Given the description of an element on the screen output the (x, y) to click on. 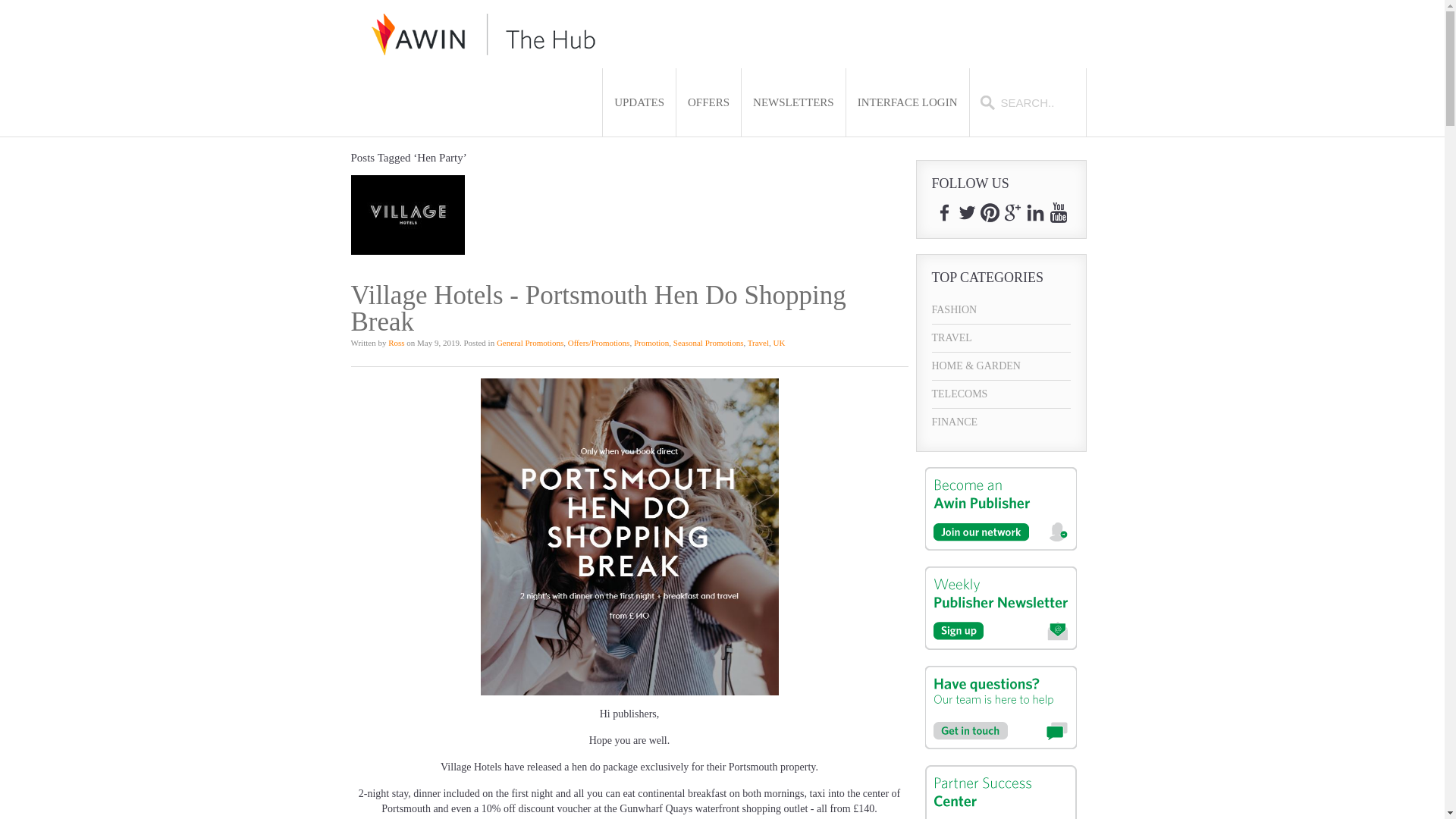
Reset (3, 2)
Ross (396, 342)
OFFERS (708, 102)
Seasonal Promotions (708, 342)
General Promotions (529, 342)
Village Hotels - Portsmouth Hen Do Shopping Break (597, 308)
Promotion (650, 342)
Travel (758, 342)
UPDATES (639, 102)
NEWSLETTERS (793, 102)
